Given the description of an element on the screen output the (x, y) to click on. 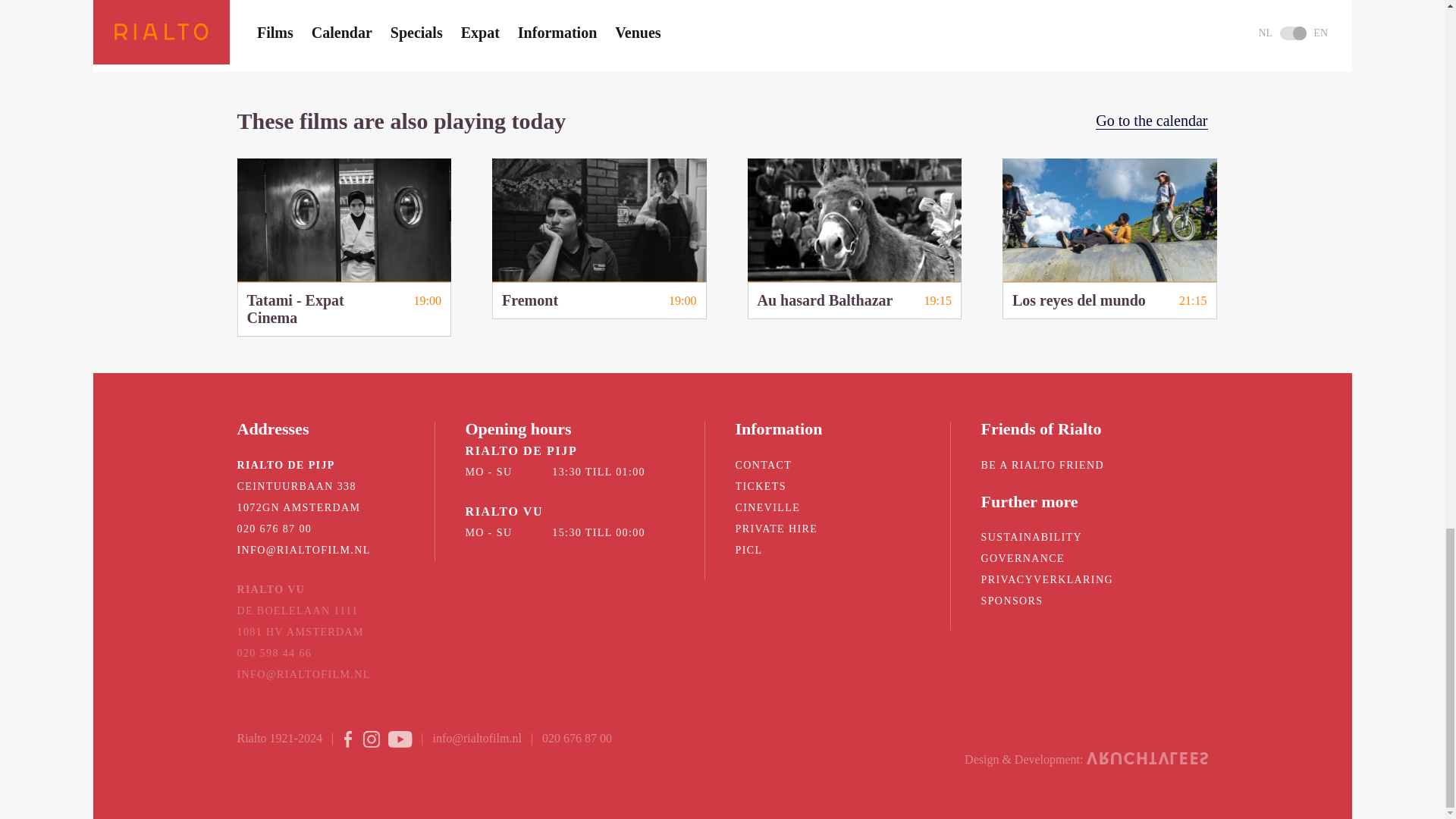
GOVERNANCE (855, 238)
SUSTAINABILITY (1022, 558)
CONTACT (1032, 536)
PICL (763, 464)
TICKETS (748, 550)
Follow us on Youtube (599, 238)
Follow us on Facebook (760, 486)
Follow us on Instagram (397, 739)
